Given the description of an element on the screen output the (x, y) to click on. 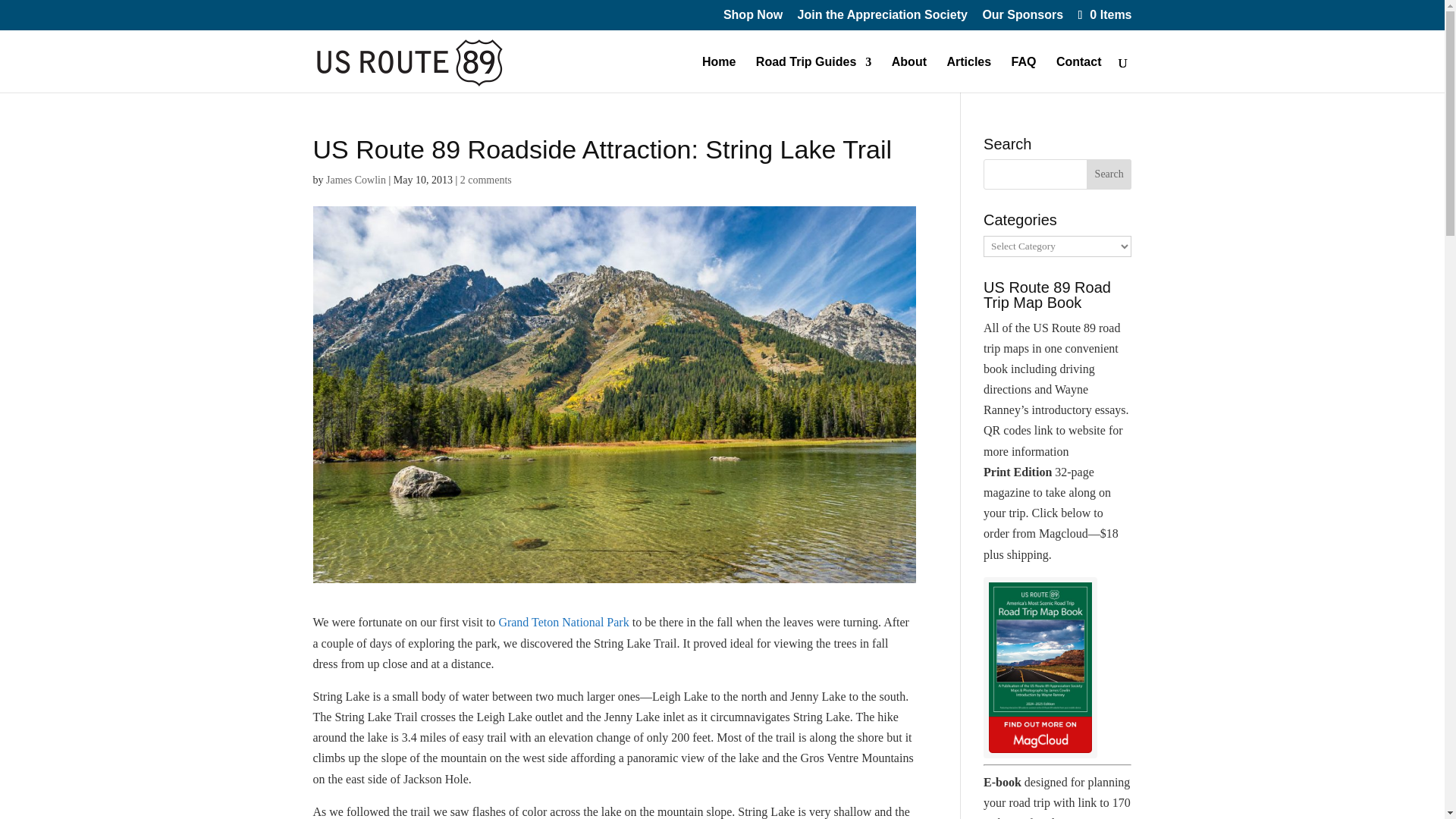
James Cowlin (355, 179)
Shop Now (753, 19)
Posts by James Cowlin (355, 179)
Road Trip Guides (812, 74)
Join the Appreciation Society (882, 19)
2 comments (486, 179)
Contact (1079, 74)
About (908, 74)
Articles (968, 74)
0 Items (1102, 14)
Grand Teton National Park (562, 621)
Search (1109, 173)
Home (718, 74)
Our Sponsors (1021, 19)
